Given the description of an element on the screen output the (x, y) to click on. 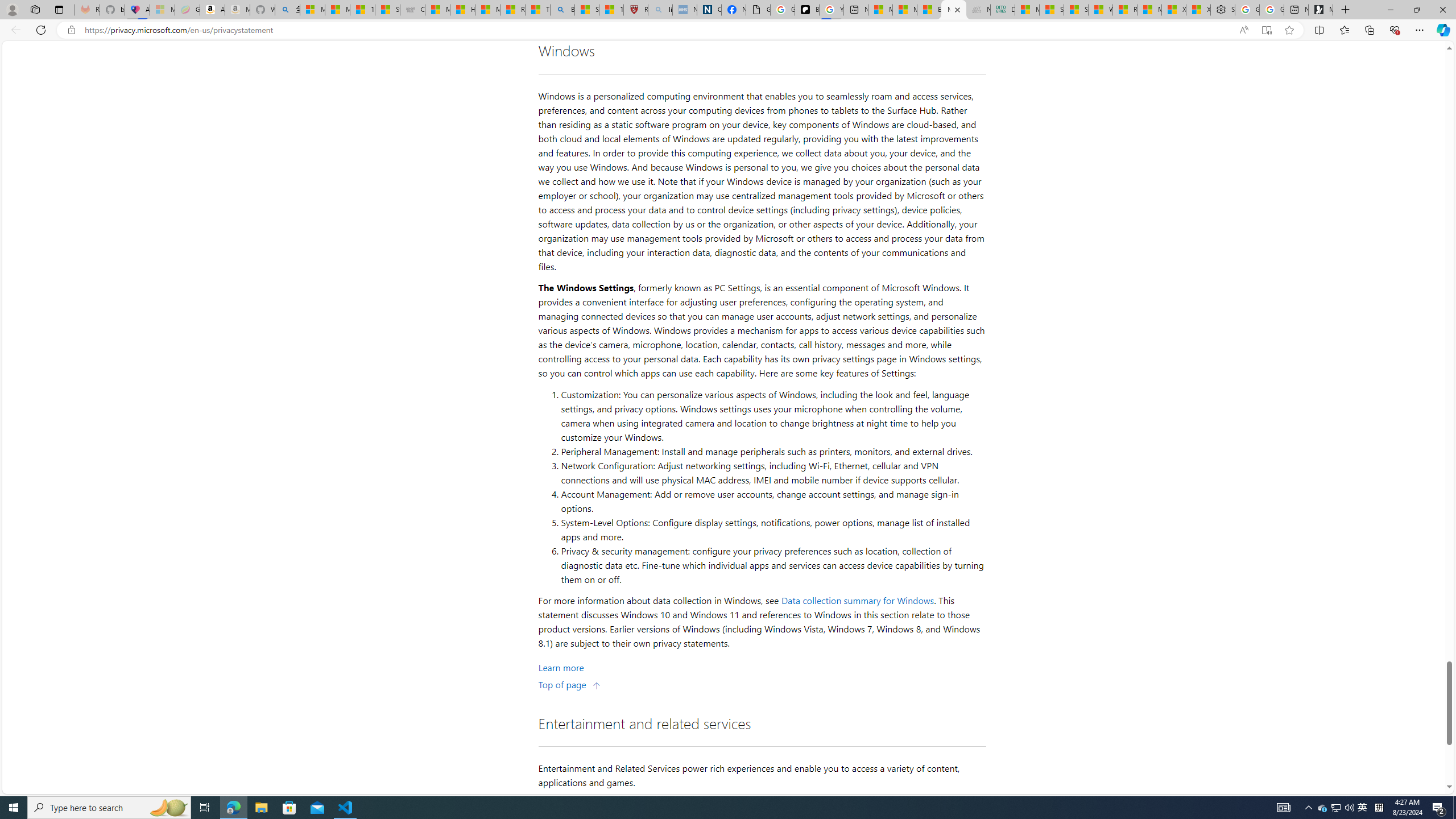
Combat Siege (411, 9)
